Given the description of an element on the screen output the (x, y) to click on. 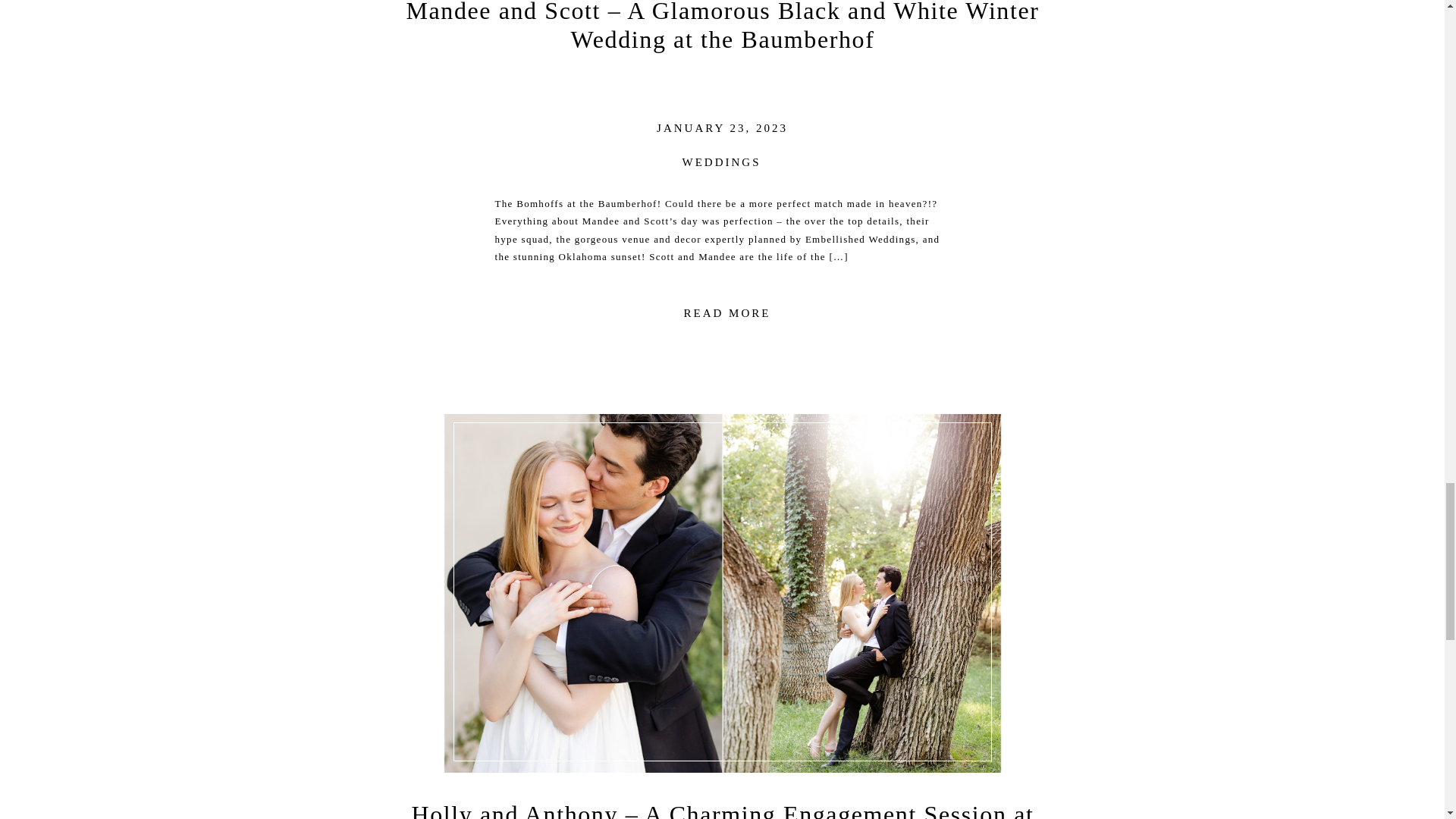
WEDDINGS (721, 162)
READ MORE (727, 314)
